Given the description of an element on the screen output the (x, y) to click on. 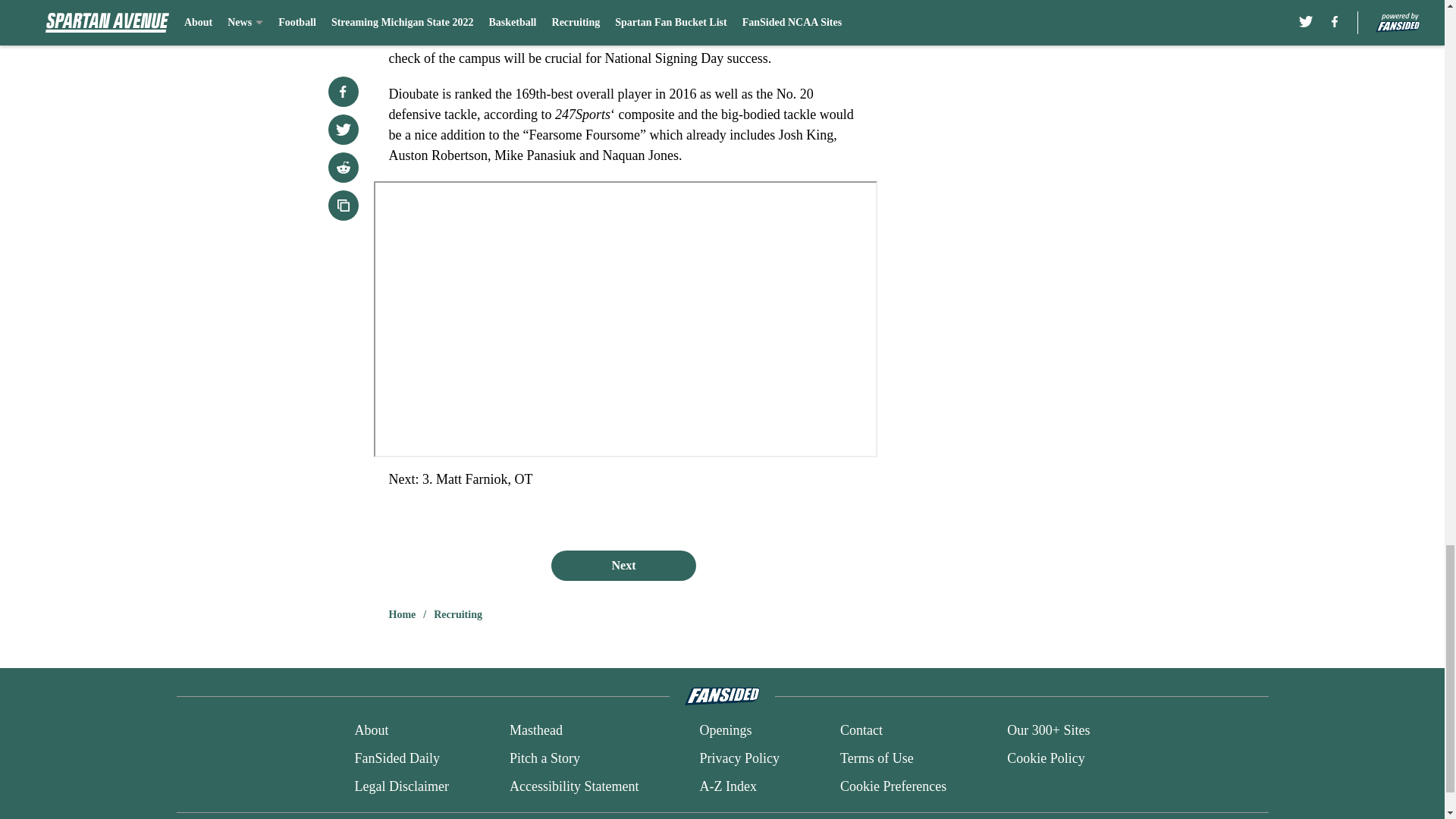
Home (401, 614)
Masthead (535, 730)
Next (622, 565)
Pitch a Story (544, 758)
Contact (861, 730)
FanSided Daily (396, 758)
About (370, 730)
Openings (724, 730)
Recruiting (457, 614)
Privacy Policy (738, 758)
